Given the description of an element on the screen output the (x, y) to click on. 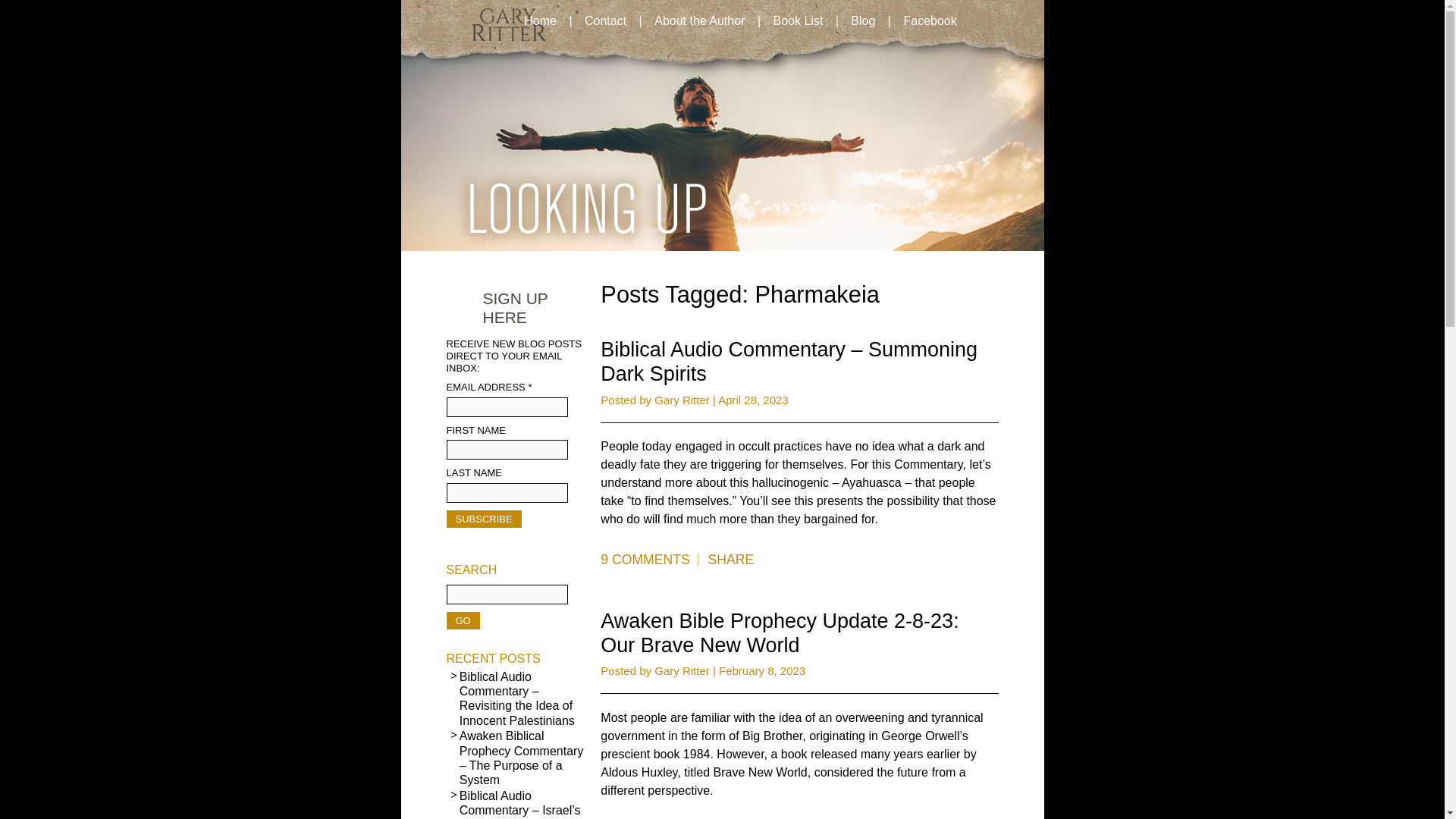
Book List (796, 20)
Facebook (929, 20)
Blog (862, 20)
Subscribe (483, 518)
Awaken Bible Prophecy Update 2-8-23: Our Brave New World (778, 632)
About the Author (699, 20)
Contact (604, 20)
Go (462, 620)
Awaken Bible Prophecy Update 2-8-23: Our Brave New World (778, 632)
9 COMMENTS (648, 560)
